Given the description of an element on the screen output the (x, y) to click on. 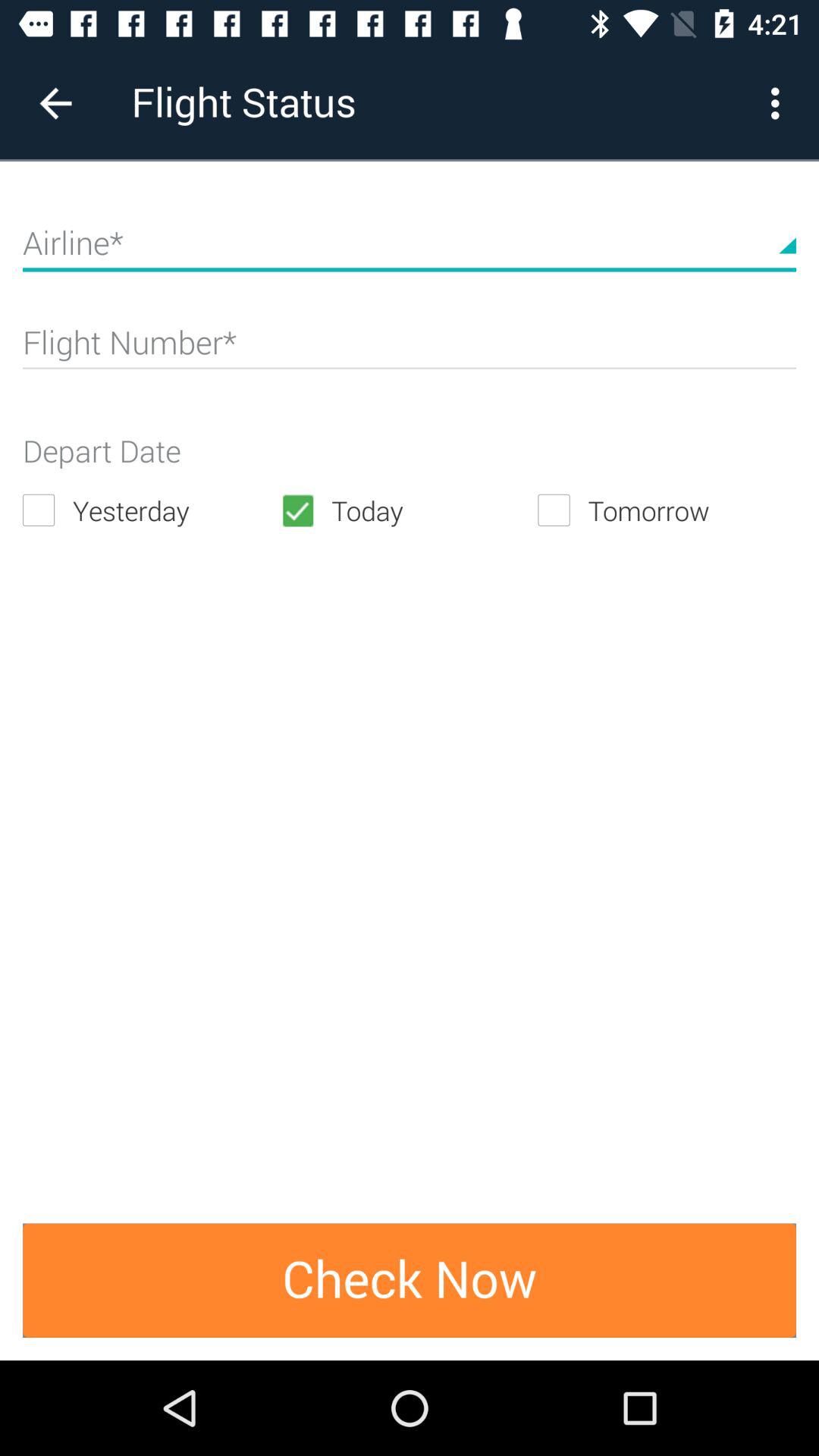
launch the item above the check now (667, 510)
